Given the description of an element on the screen output the (x, y) to click on. 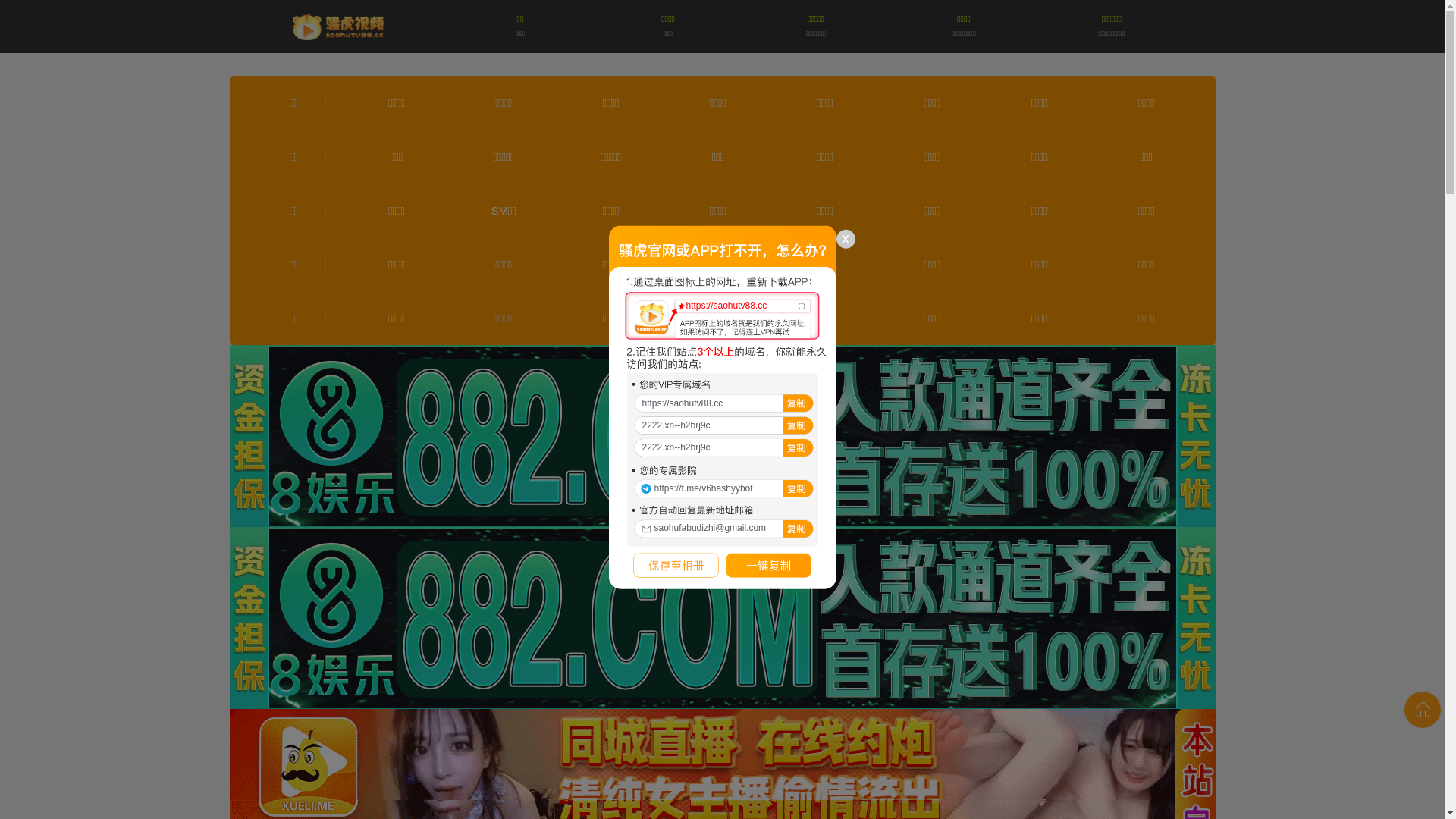
x Element type: text (844, 238)
2222.xn--h2brj9c Element type: text (721, 424)
saohufabudizhi@gmail.com Element type: text (721, 526)
https://saohutv88.cc Element type: text (725, 305)
https://t.me/v6hashyybot Element type: text (721, 487)
https://saohutv88.cc Element type: text (721, 402)
2222.xn--h2brj9c Element type: text (721, 446)
